Given the description of an element on the screen output the (x, y) to click on. 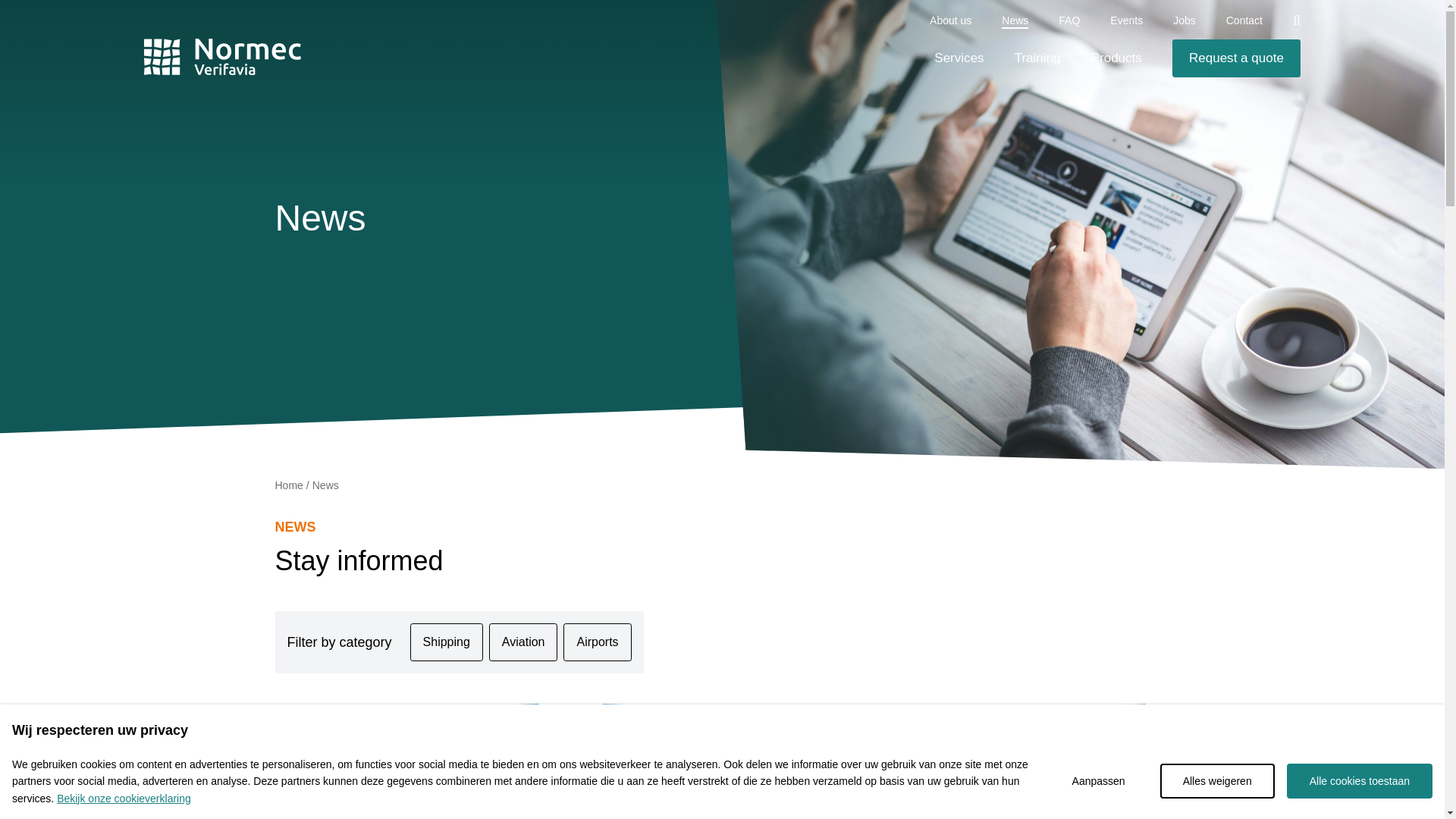
FAQ (1069, 20)
Jobs (1184, 20)
News (1014, 20)
Services (959, 58)
Events (1125, 20)
About us (950, 20)
Bekijk onze cookieverklaring (123, 798)
Contact (1243, 20)
